Given the description of an element on the screen output the (x, y) to click on. 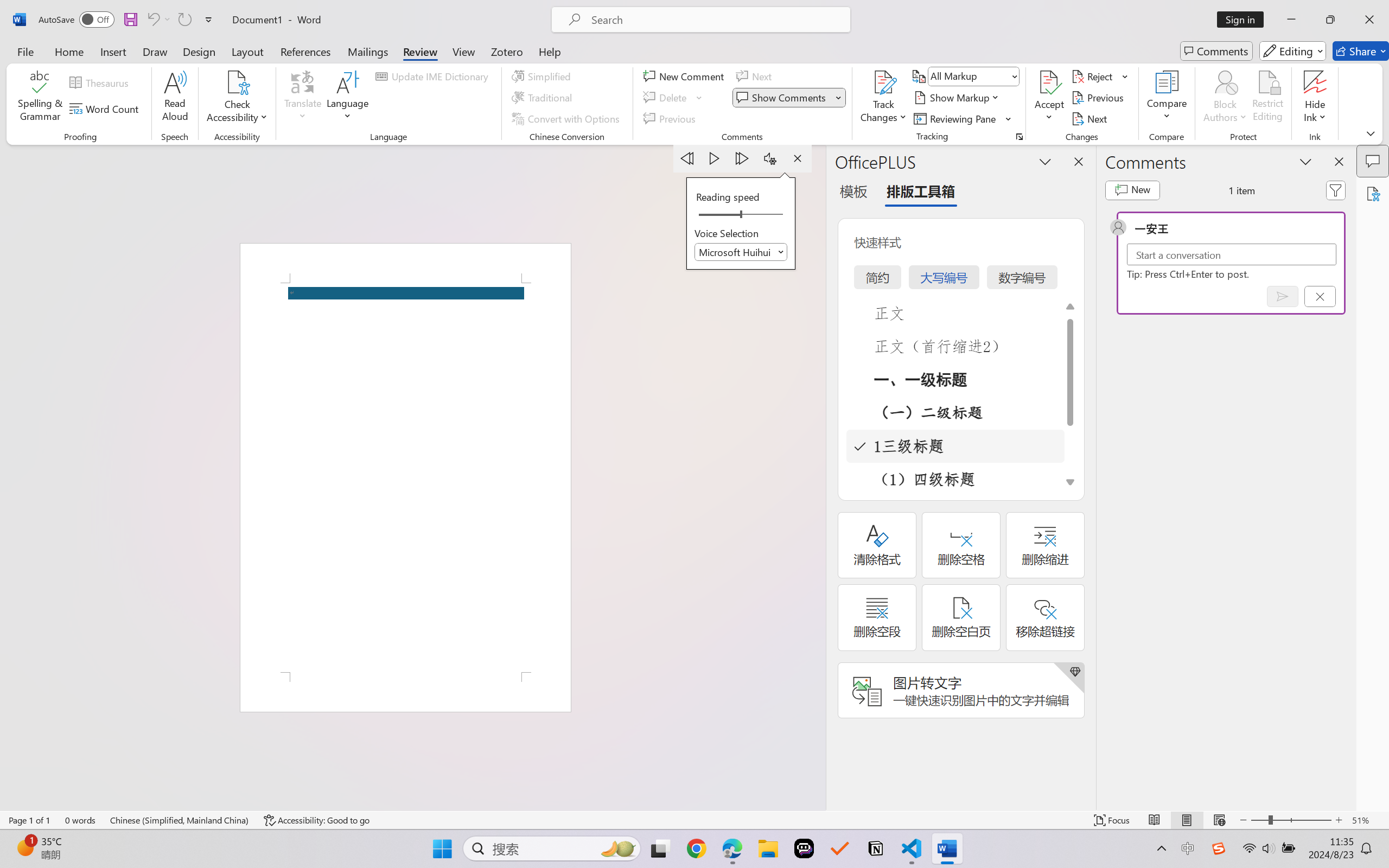
Change Tracking Options... (1019, 136)
Cancel (1320, 296)
New comment (1132, 190)
Reject (1100, 75)
Compare (1166, 97)
